Given the description of an element on the screen output the (x, y) to click on. 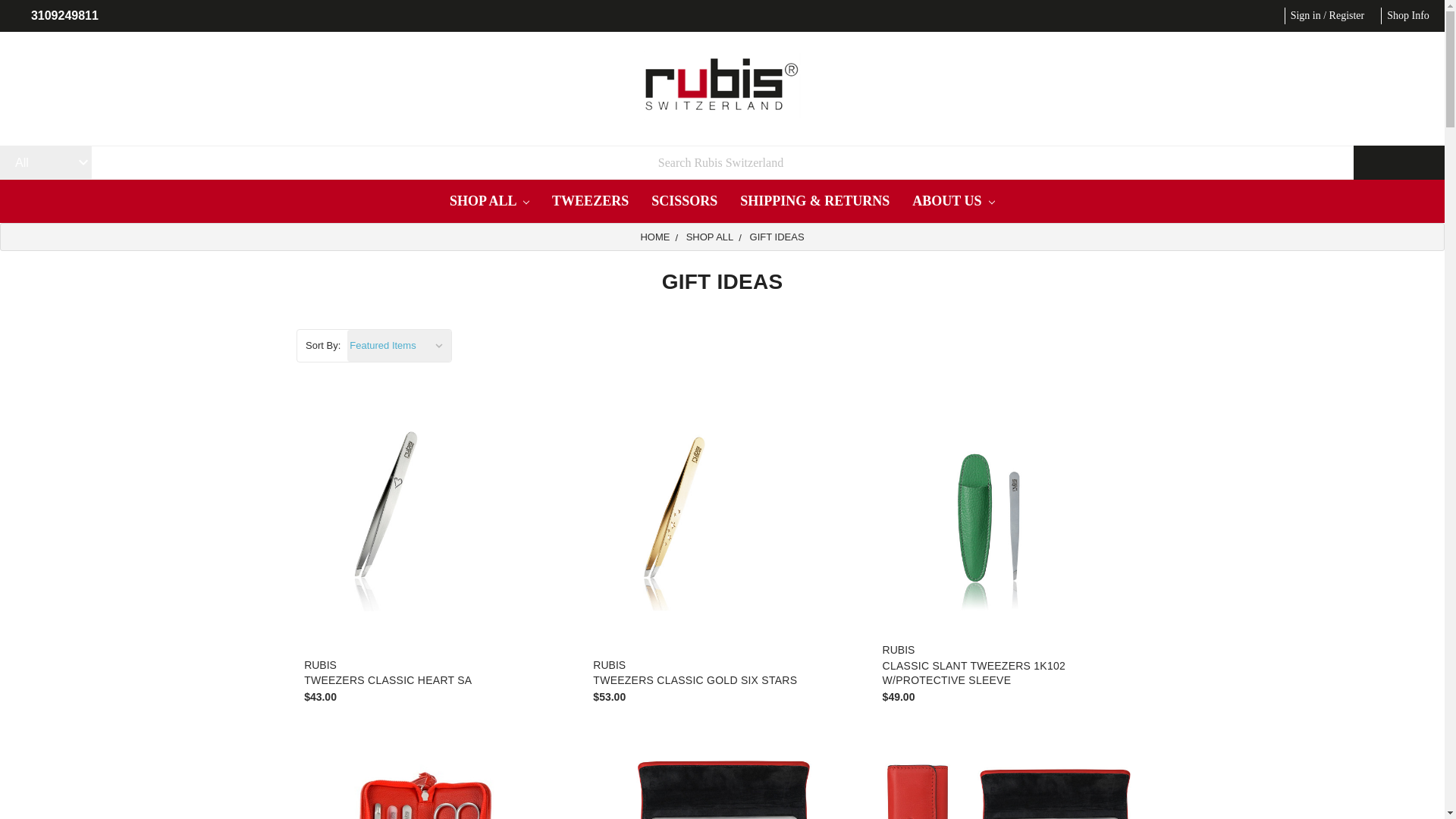
TWEEZERS CLASSIC HEART SA (433, 509)
SHOP ALL (489, 200)
TWEEZERS CLASSIC GOLD SIX STARS (722, 509)
Go (1399, 162)
Rubis Switzerland (721, 84)
Shop Info (1407, 15)
